Given the description of an element on the screen output the (x, y) to click on. 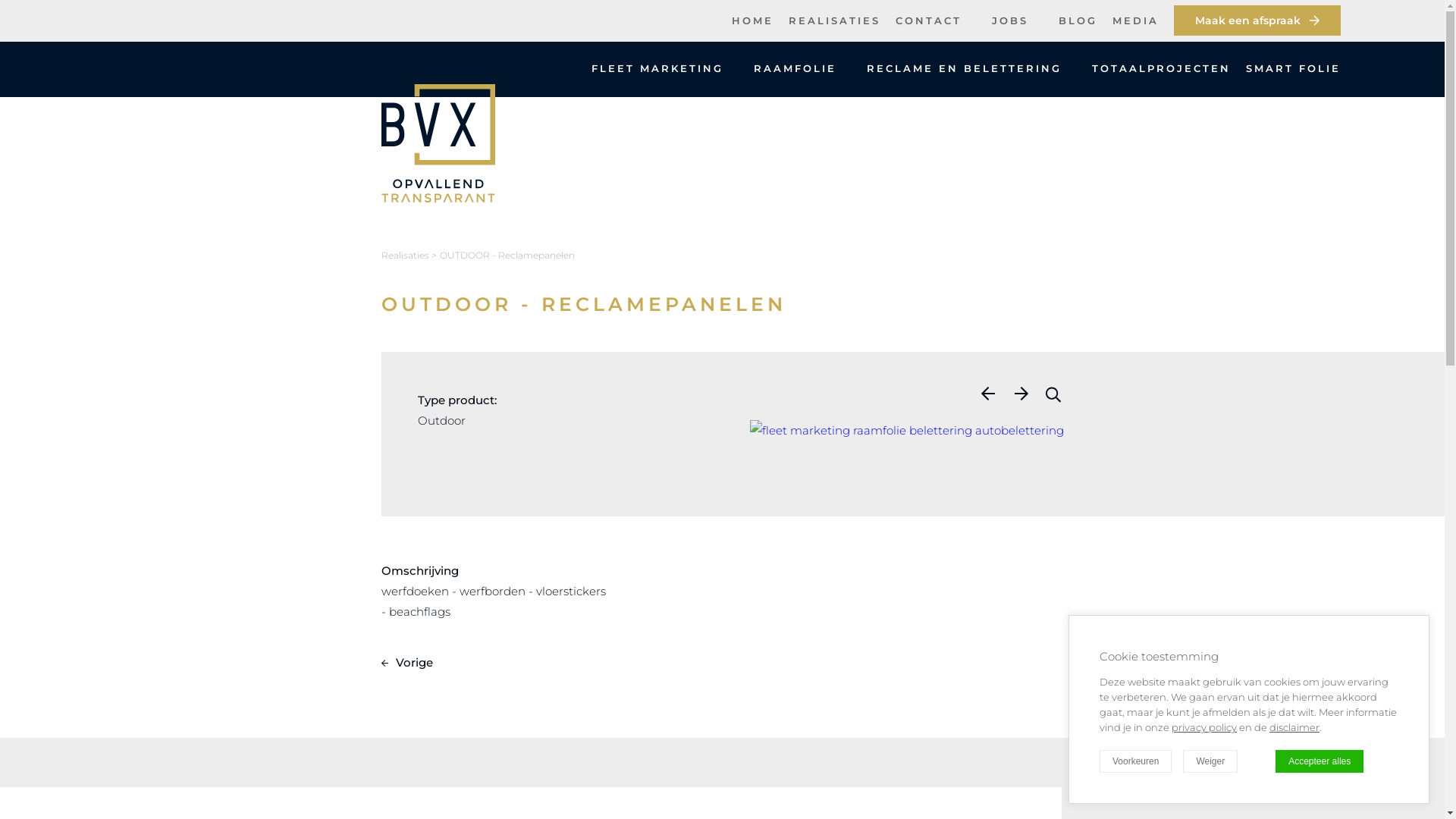
Realisaties Element type: text (404, 254)
privacy policy Element type: text (1203, 727)
FLEET MARKETING Element type: text (657, 68)
JOBS Element type: text (1009, 20)
TOTAALPROJECTEN Element type: text (1161, 68)
Voorkeuren Element type: text (1135, 760)
CONTACT Element type: text (928, 20)
Accepteer alles Element type: text (1319, 760)
Maak een afspraak Element type: text (1256, 20)
MEDIA Element type: text (1135, 20)
Weiger Element type: text (1210, 760)
RECLAME EN BELETTERING Element type: text (963, 68)
disclaimer Element type: text (1294, 727)
HOME Element type: text (752, 20)
BLOG Element type: text (1077, 20)
Vorige Element type: text (406, 662)
REALISATIES Element type: text (834, 20)
SMART FOLIE Element type: text (1292, 68)
RAAMFOLIE Element type: text (794, 68)
OUTDOOR - Reclamepanelen Element type: text (506, 254)
